Given the description of an element on the screen output the (x, y) to click on. 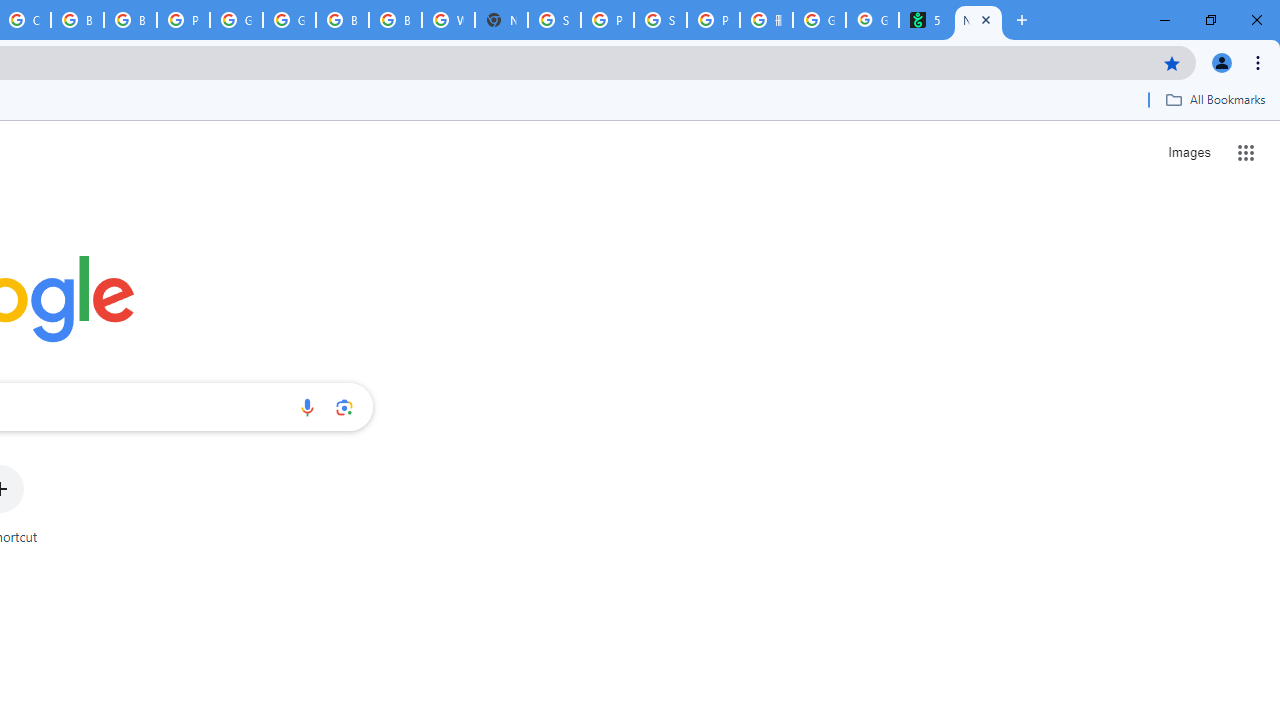
Browse Chrome as a guest - Computer - Google Chrome Help (130, 20)
All Bookmarks (1215, 99)
Browse Chrome as a guest - Computer - Google Chrome Help (77, 20)
Search for Images  (1188, 152)
Google Cloud Platform (289, 20)
Sign in - Google Accounts (554, 20)
Browse Chrome as a guest - Computer - Google Chrome Help (342, 20)
